Given the description of an element on the screen output the (x, y) to click on. 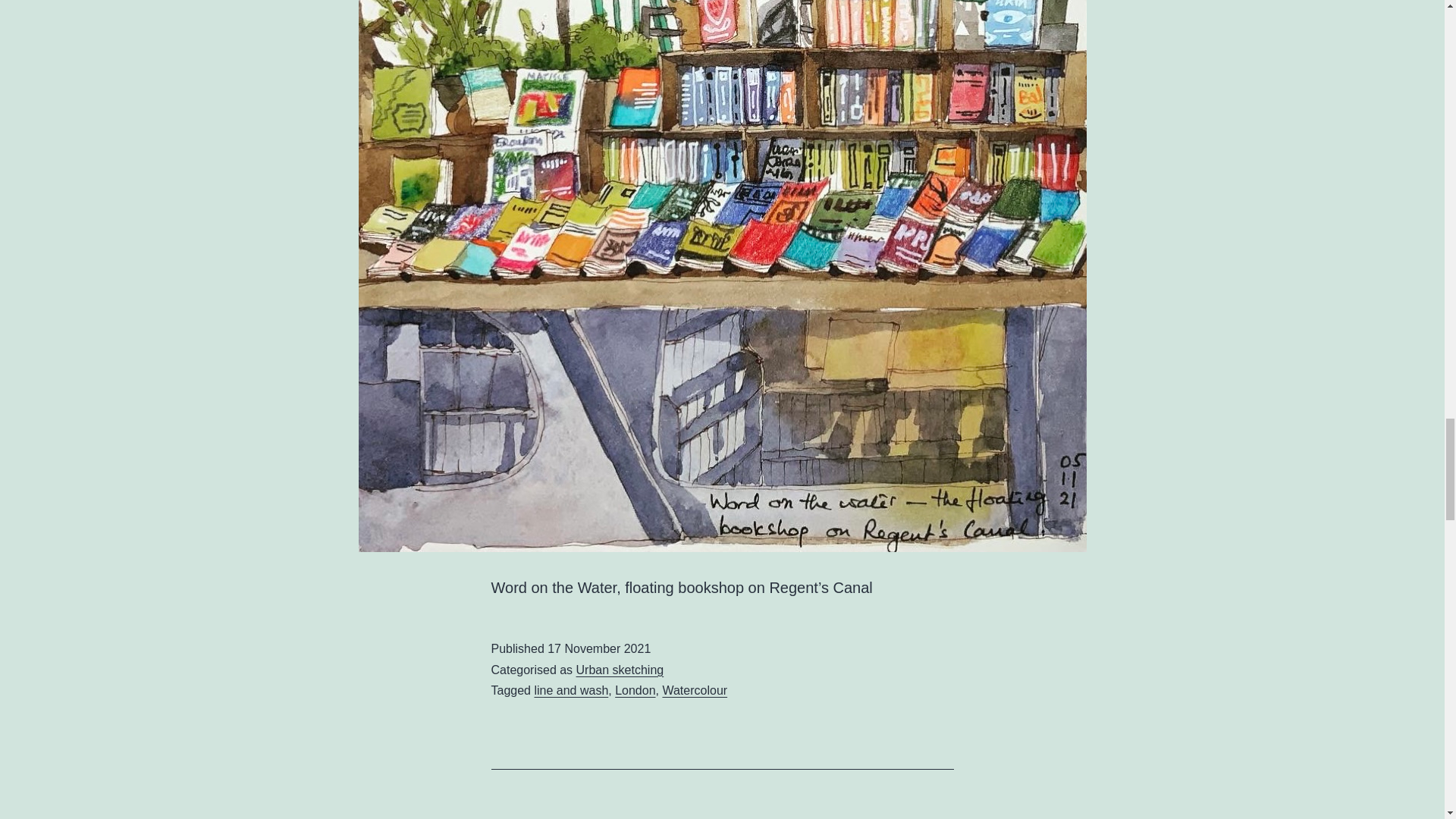
Watercolour (694, 689)
line and wash (571, 689)
London (634, 689)
Urban sketching (619, 669)
